Given the description of an element on the screen output the (x, y) to click on. 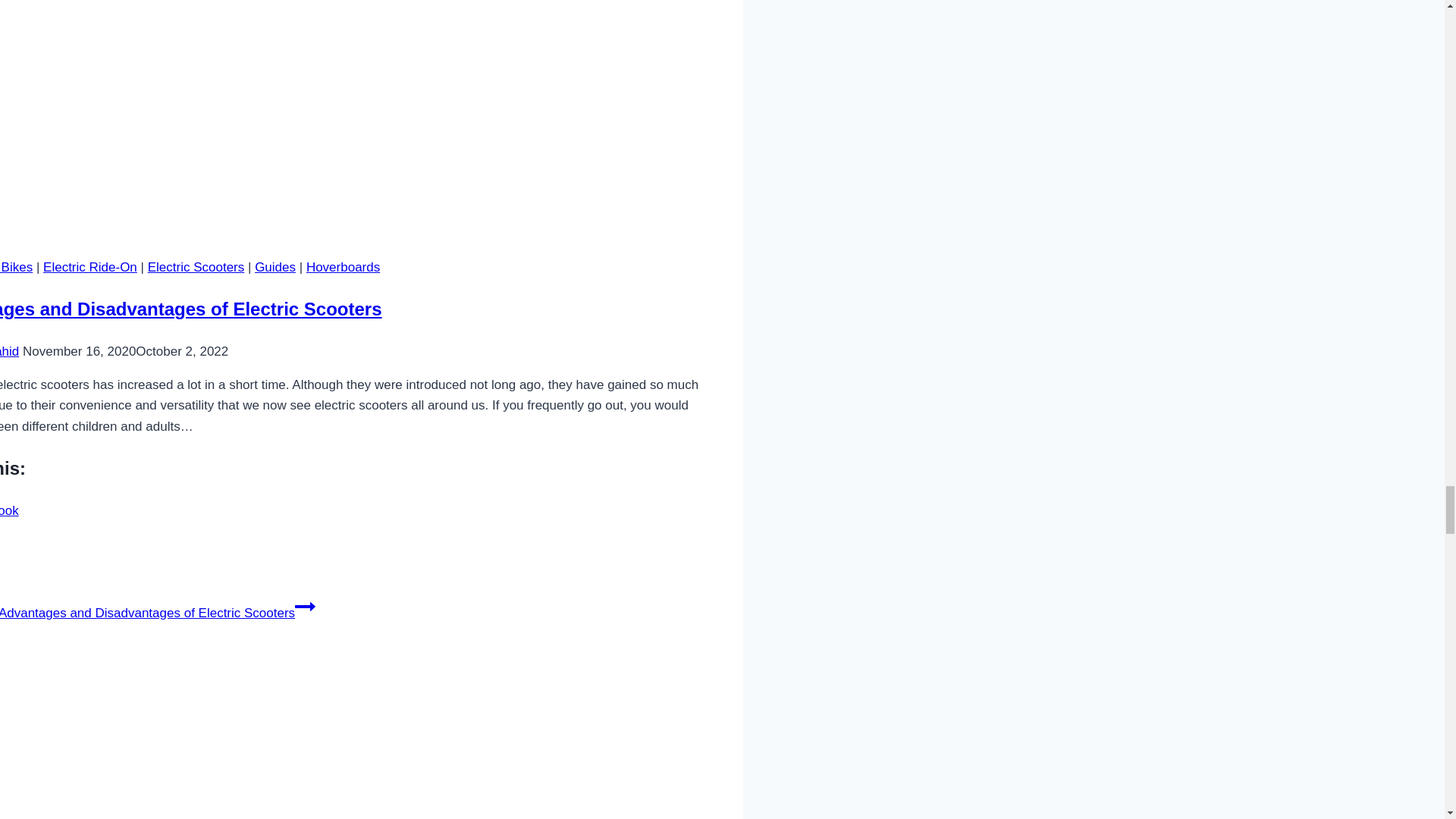
Continue (305, 606)
Click to share on Facebook (9, 510)
